Given the description of an element on the screen output the (x, y) to click on. 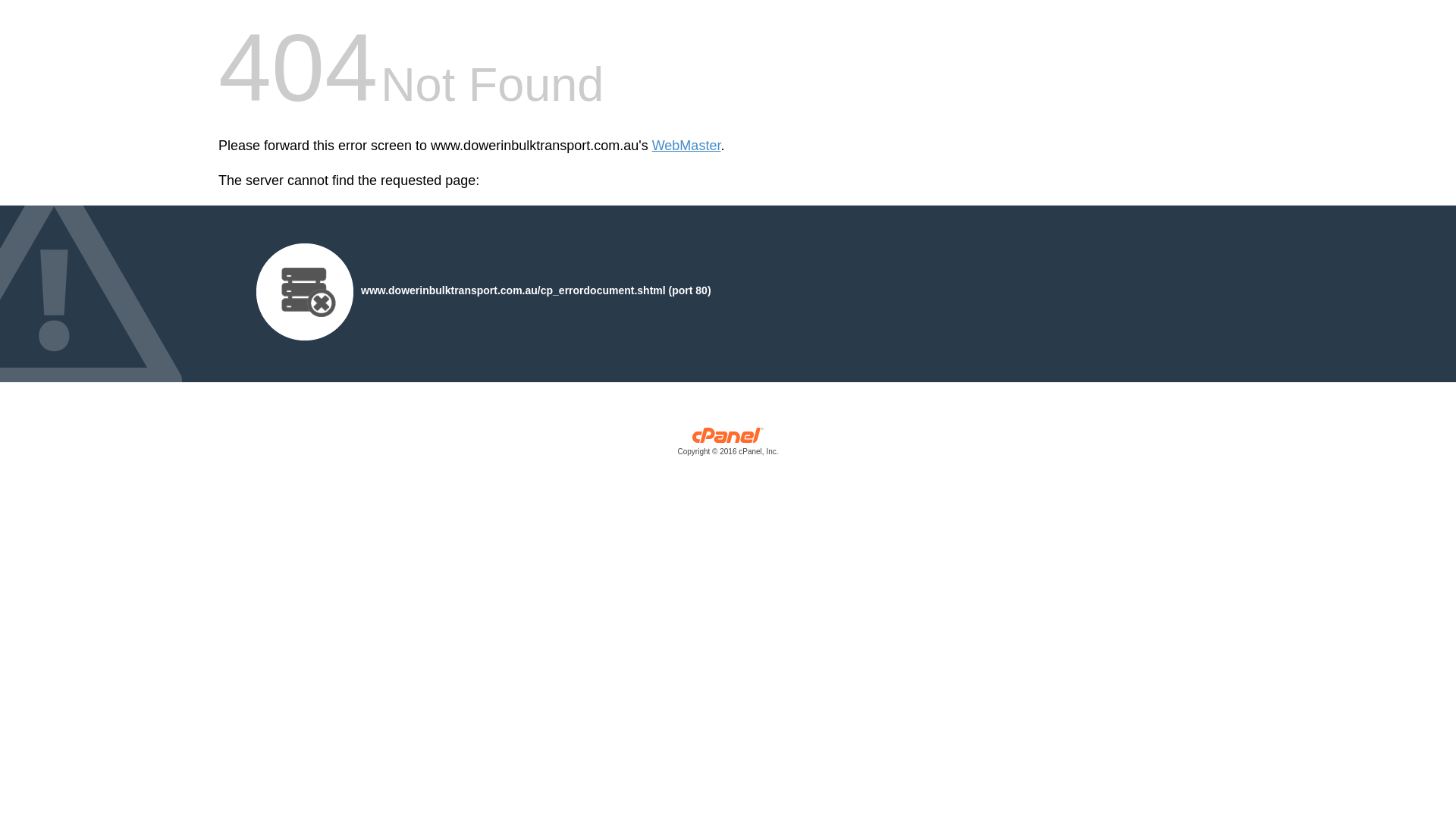
WebMaster Element type: text (686, 145)
